Given the description of an element on the screen output the (x, y) to click on. 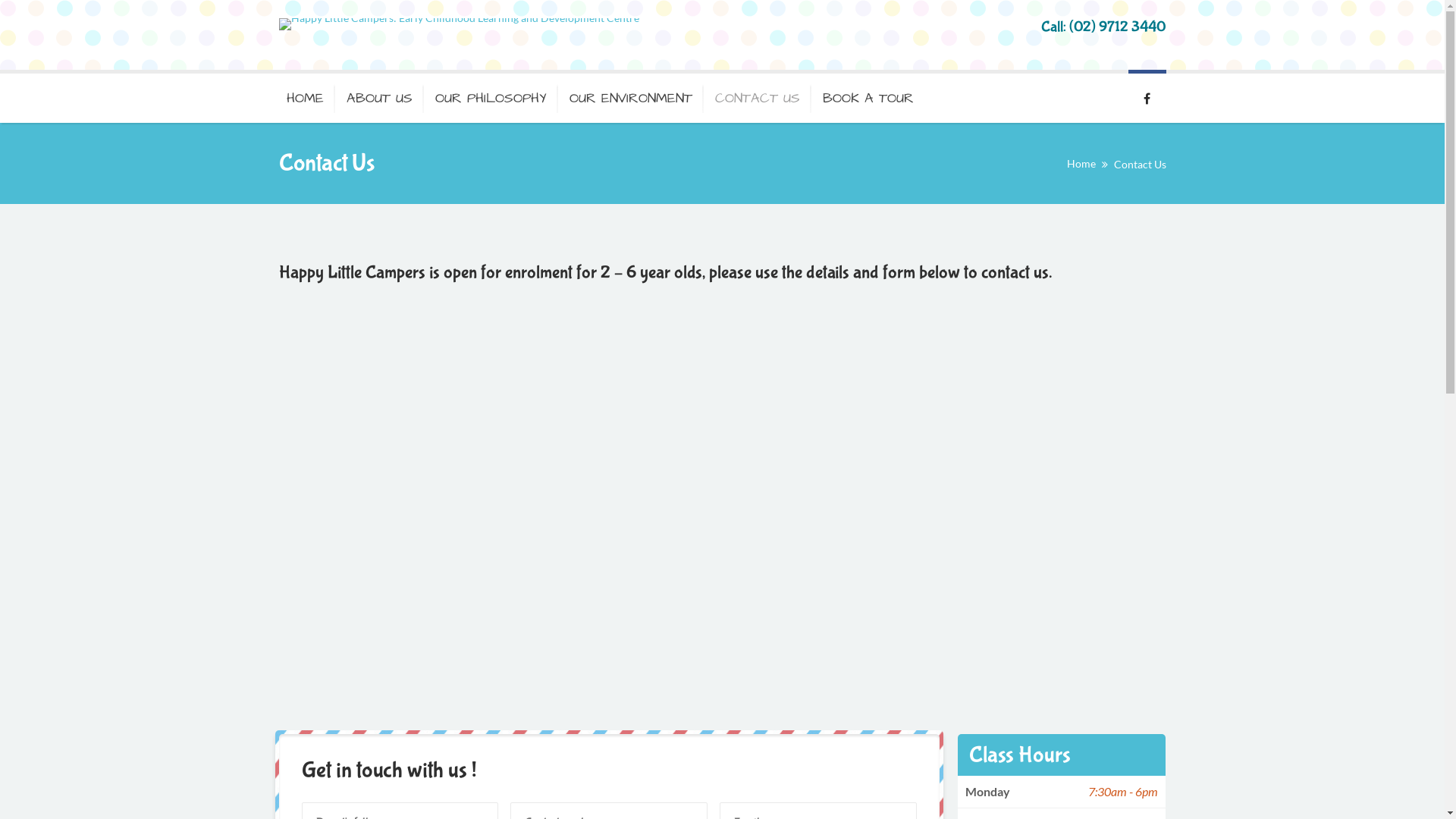
Facebook Element type: hover (1147, 95)
OUR ENVIRONMENT Element type: text (630, 95)
BOOK A TOUR Element type: text (868, 95)
OUR PHILOSOPHY Element type: text (490, 95)
ABOUT US Element type: text (379, 95)
Home Element type: text (1080, 163)
CONTACT US Element type: text (757, 95)
HOME Element type: text (307, 95)
